Given the description of an element on the screen output the (x, y) to click on. 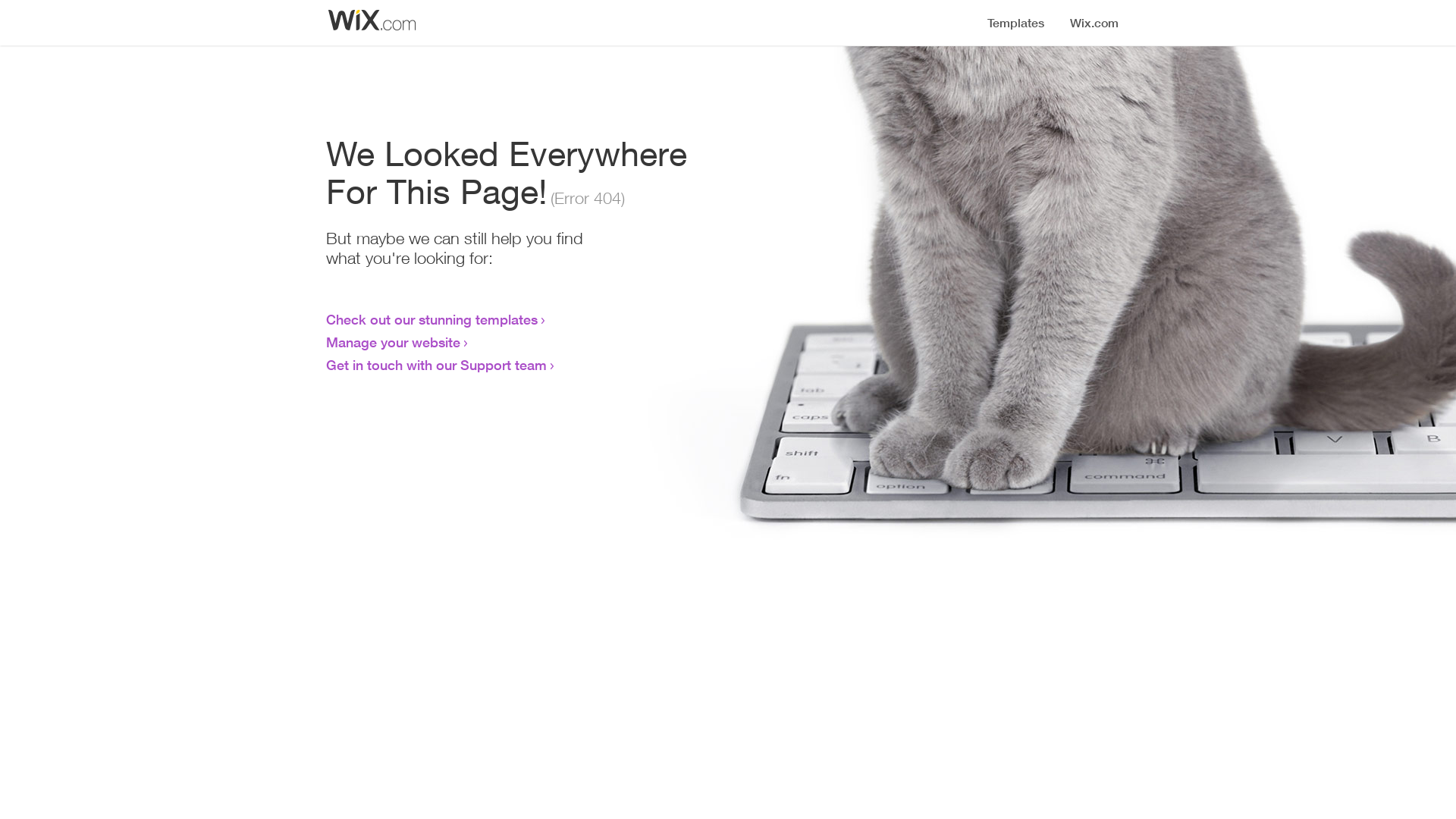
Manage your website Element type: text (393, 341)
Check out our stunning templates Element type: text (431, 318)
Get in touch with our Support team Element type: text (436, 364)
